Given the description of an element on the screen output the (x, y) to click on. 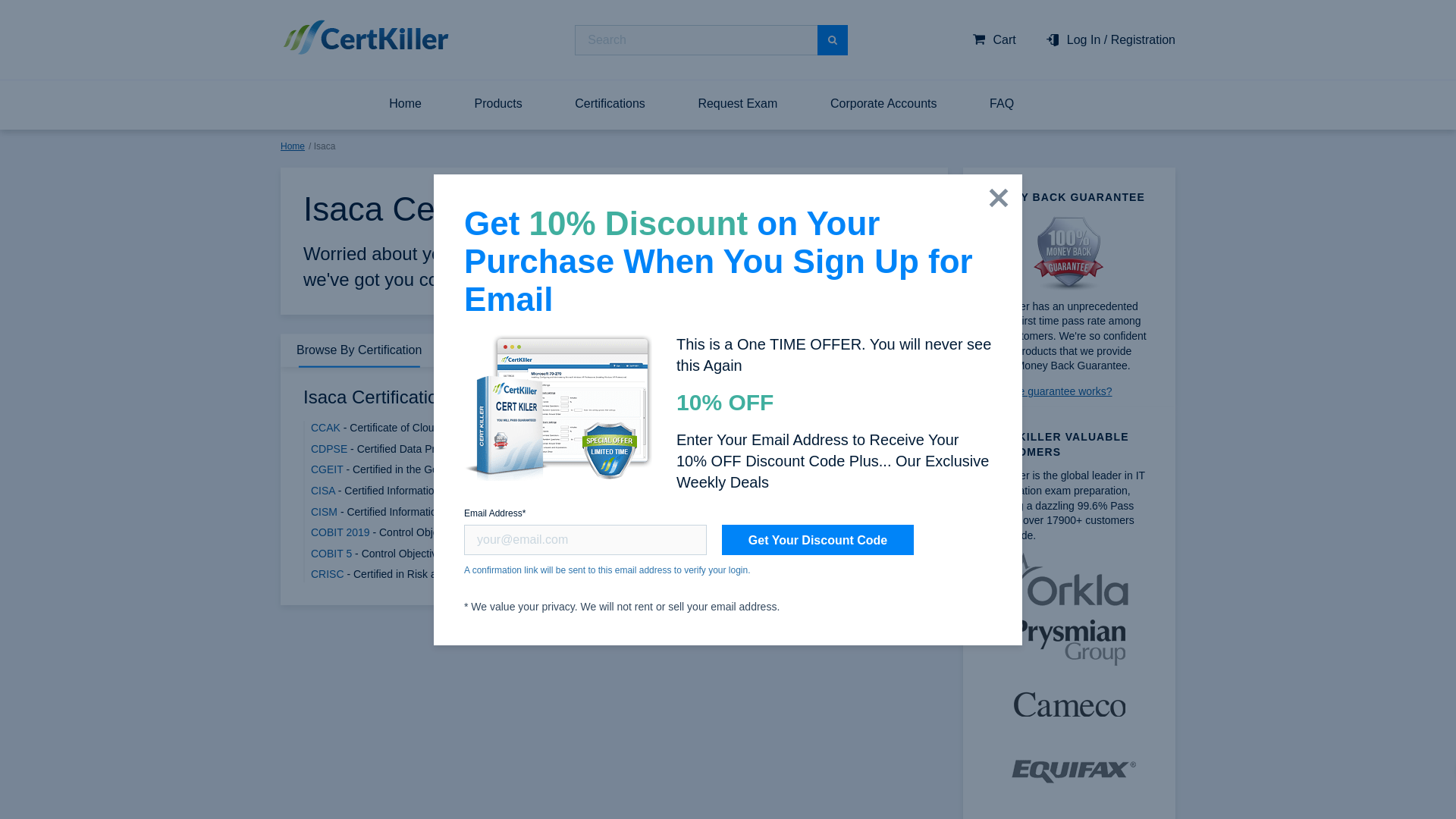
Money Back Guarantee (1068, 253)
Salesforce (305, 21)
Palo Alto Networks (325, 4)
VMware (299, 74)
Cart (994, 39)
Search (831, 40)
Log In (1083, 39)
View All (299, 99)
CertKiller (365, 37)
Registration (1142, 39)
